Given the description of an element on the screen output the (x, y) to click on. 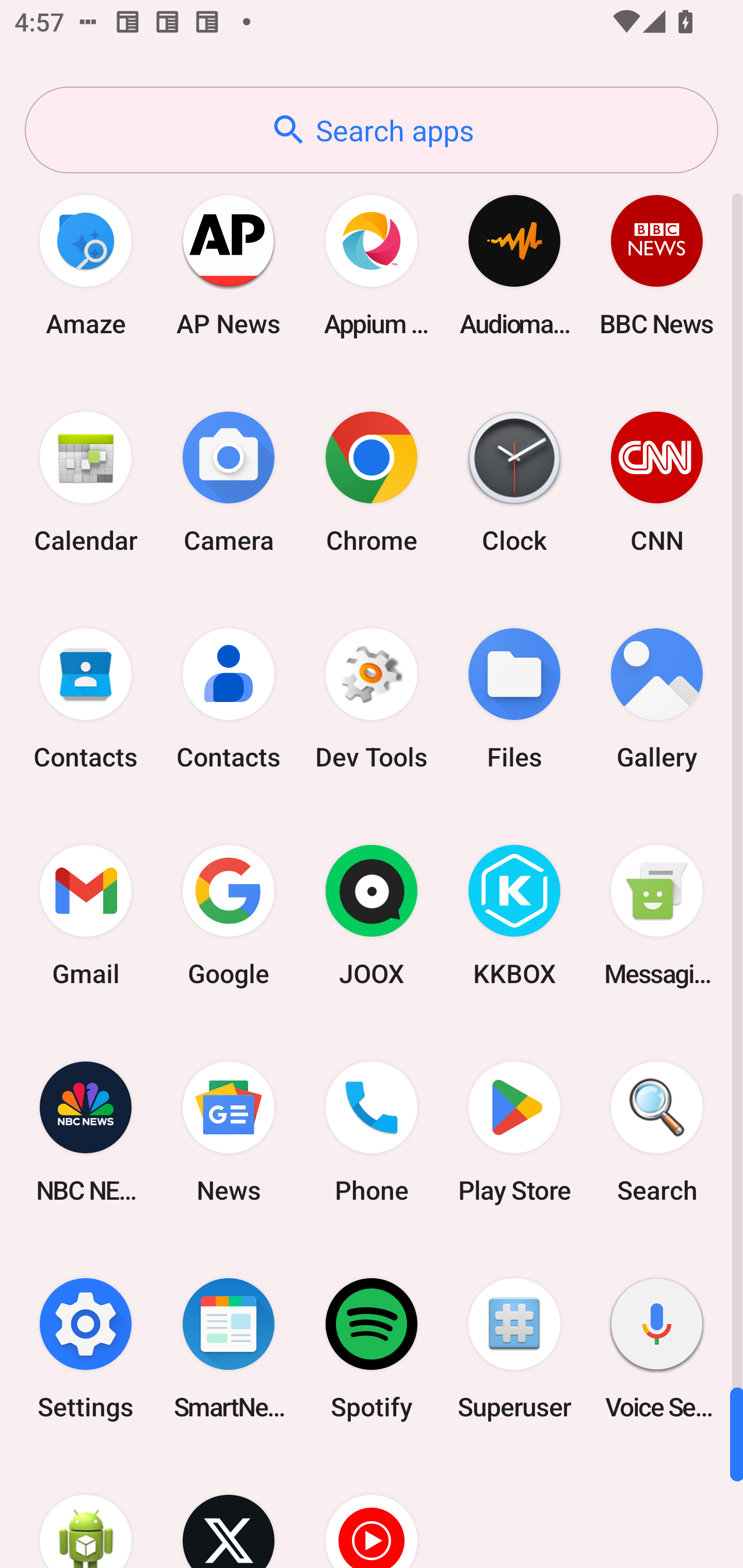
  Search apps (371, 130)
Amaze (85, 264)
AP News (228, 264)
Appium Settings (371, 264)
Audio­mack (514, 264)
BBC News (656, 264)
Calendar (85, 482)
Camera (228, 482)
Chrome (371, 482)
Clock (514, 482)
CNN (656, 482)
Contacts (85, 699)
Contacts (228, 699)
Dev Tools (371, 699)
Files (514, 699)
Gallery (656, 699)
Gmail (85, 915)
Google (228, 915)
JOOX (371, 915)
KKBOX (514, 915)
Messaging (656, 915)
NBC NEWS (85, 1131)
News (228, 1131)
Phone (371, 1131)
Play Store (514, 1131)
Search (656, 1131)
Settings (85, 1348)
SmartNews (228, 1348)
Spotify (371, 1348)
Superuser (514, 1348)
Voice Search (656, 1348)
WebView Browser Tester (85, 1512)
X (228, 1512)
YT Music (371, 1512)
